Given the description of an element on the screen output the (x, y) to click on. 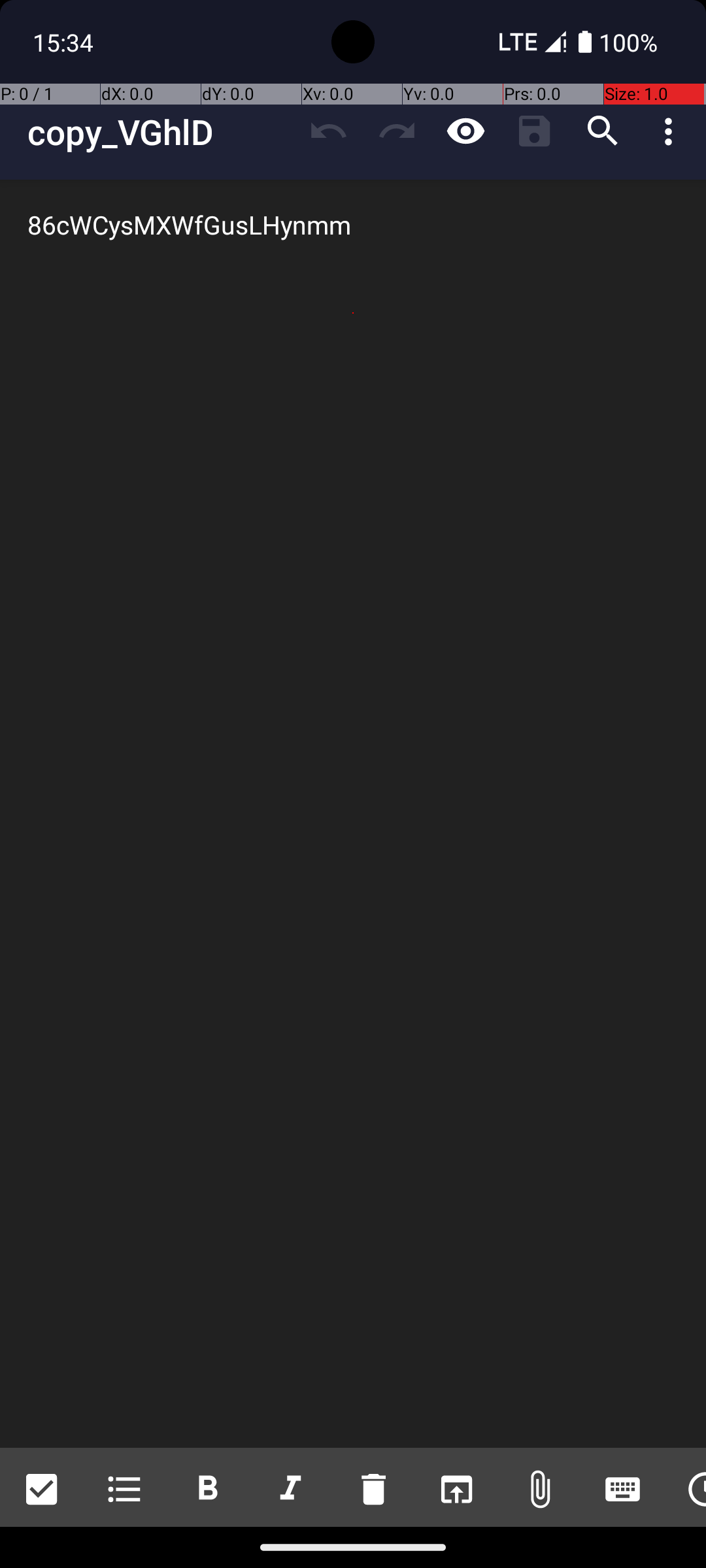
copy_VGhlD Element type: android.widget.TextView (160, 131)
86cWCysMXWfGusLHynmm
 Element type: android.widget.EditText (353, 813)
